Given the description of an element on the screen output the (x, y) to click on. 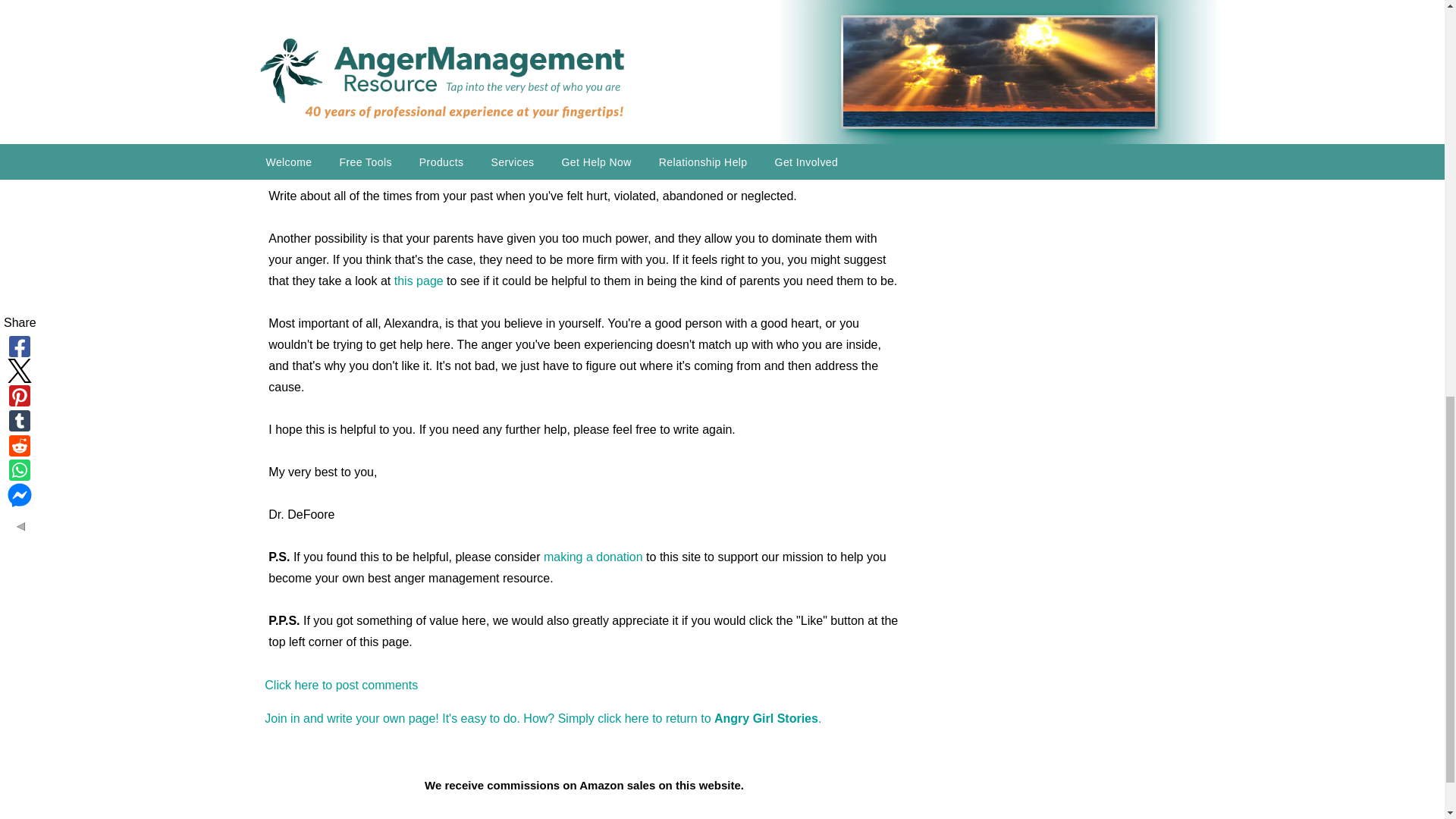
Here is a page (579, 121)
Click here to post comments (340, 684)
this page (419, 280)
making a donation (593, 556)
